Given the description of an element on the screen output the (x, y) to click on. 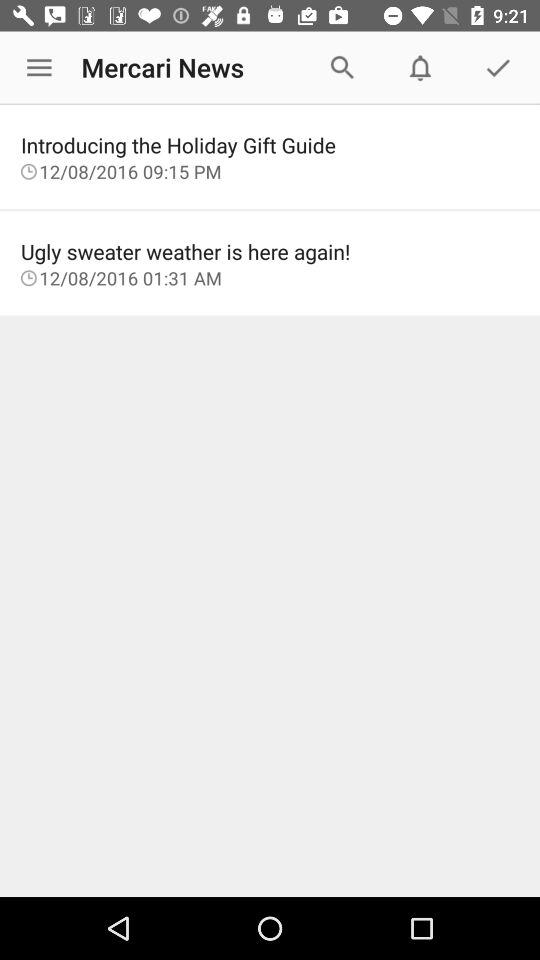
flip until ugly sweater weather item (270, 251)
